Given the description of an element on the screen output the (x, y) to click on. 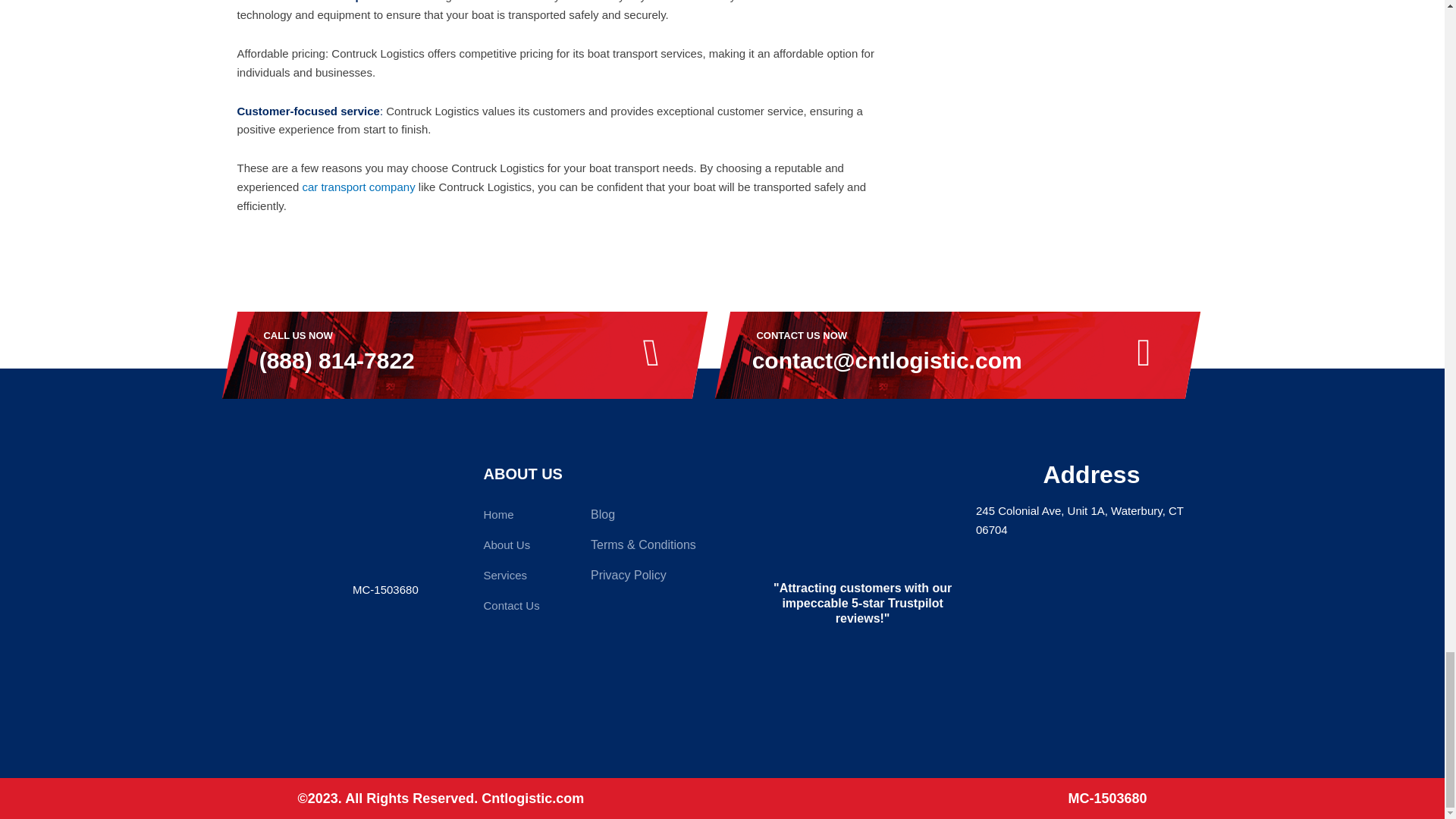
trustpilot (862, 516)
car transport company (357, 186)
